Given the description of an element on the screen output the (x, y) to click on. 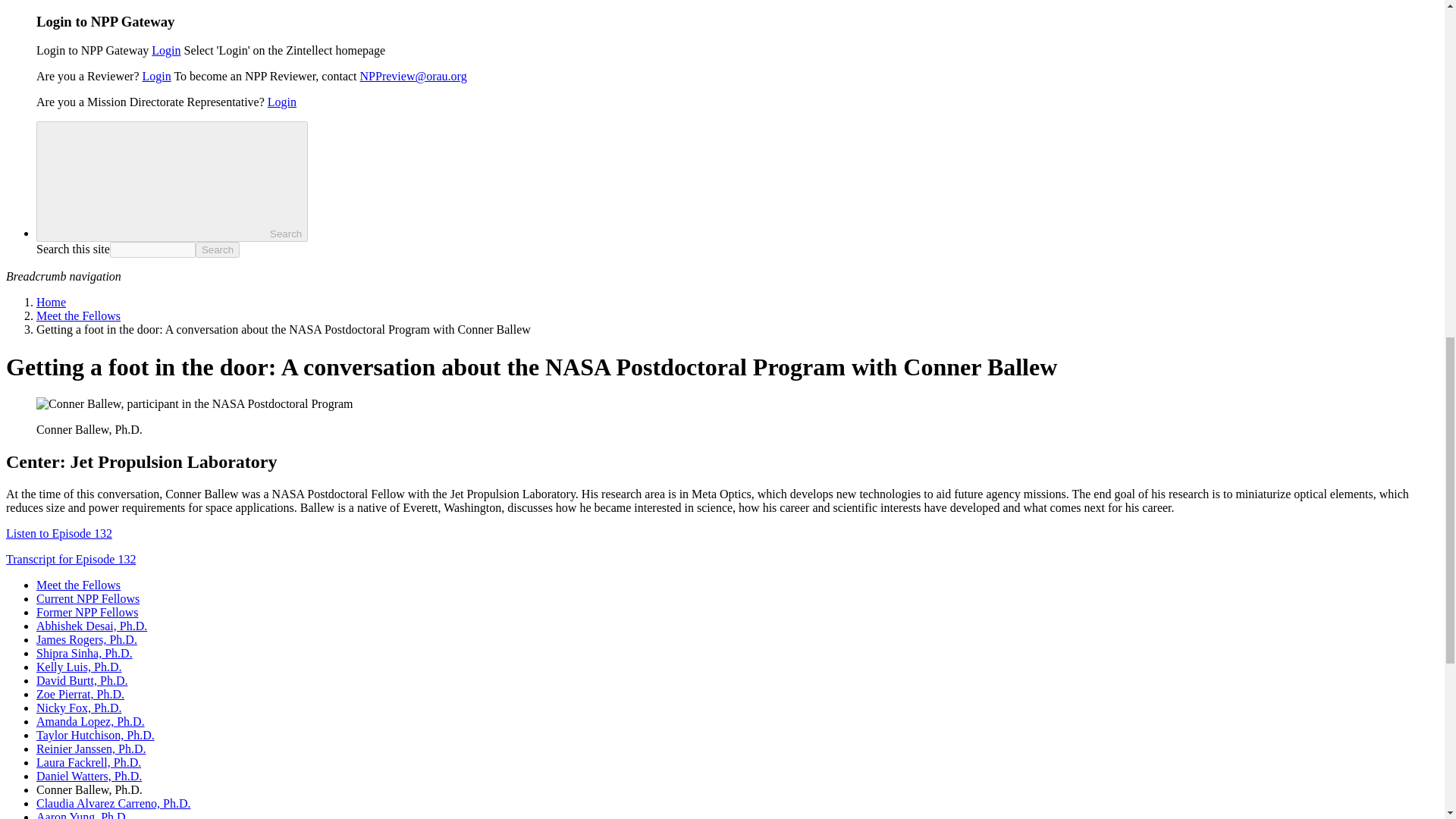
Search (155, 180)
Login (156, 75)
search (152, 249)
Login (165, 50)
